Given the description of an element on the screen output the (x, y) to click on. 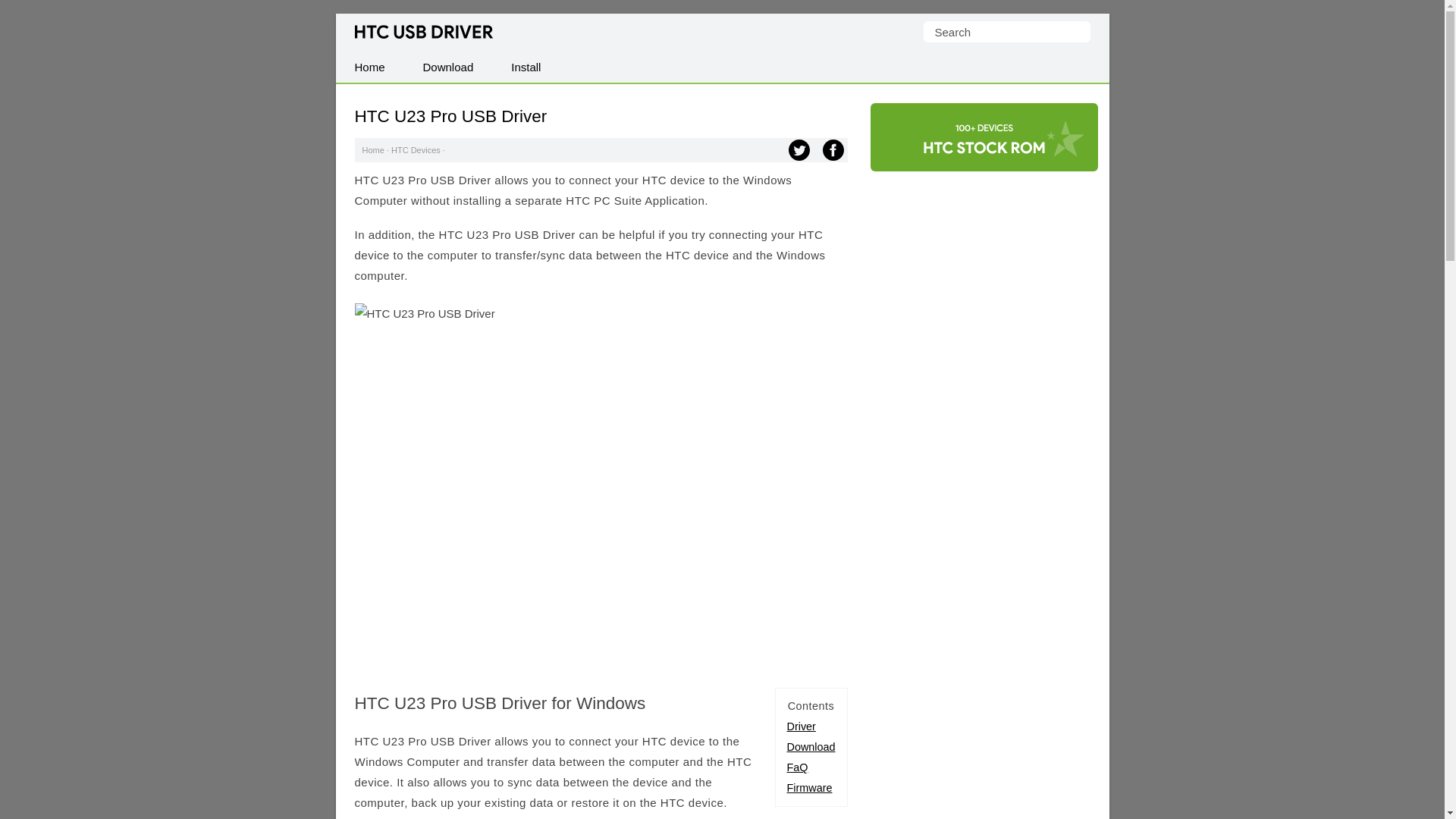
Install (525, 66)
HTC U23 Pro USB Driver for Windows (801, 726)
Frequently Asked Questions (797, 767)
Download HTC U23 Pro USB Driver (811, 746)
HTC USB Driver (424, 31)
FaQ (797, 767)
Home (368, 66)
Firmware (809, 787)
HTC Devices (416, 149)
Download (448, 66)
